Given the description of an element on the screen output the (x, y) to click on. 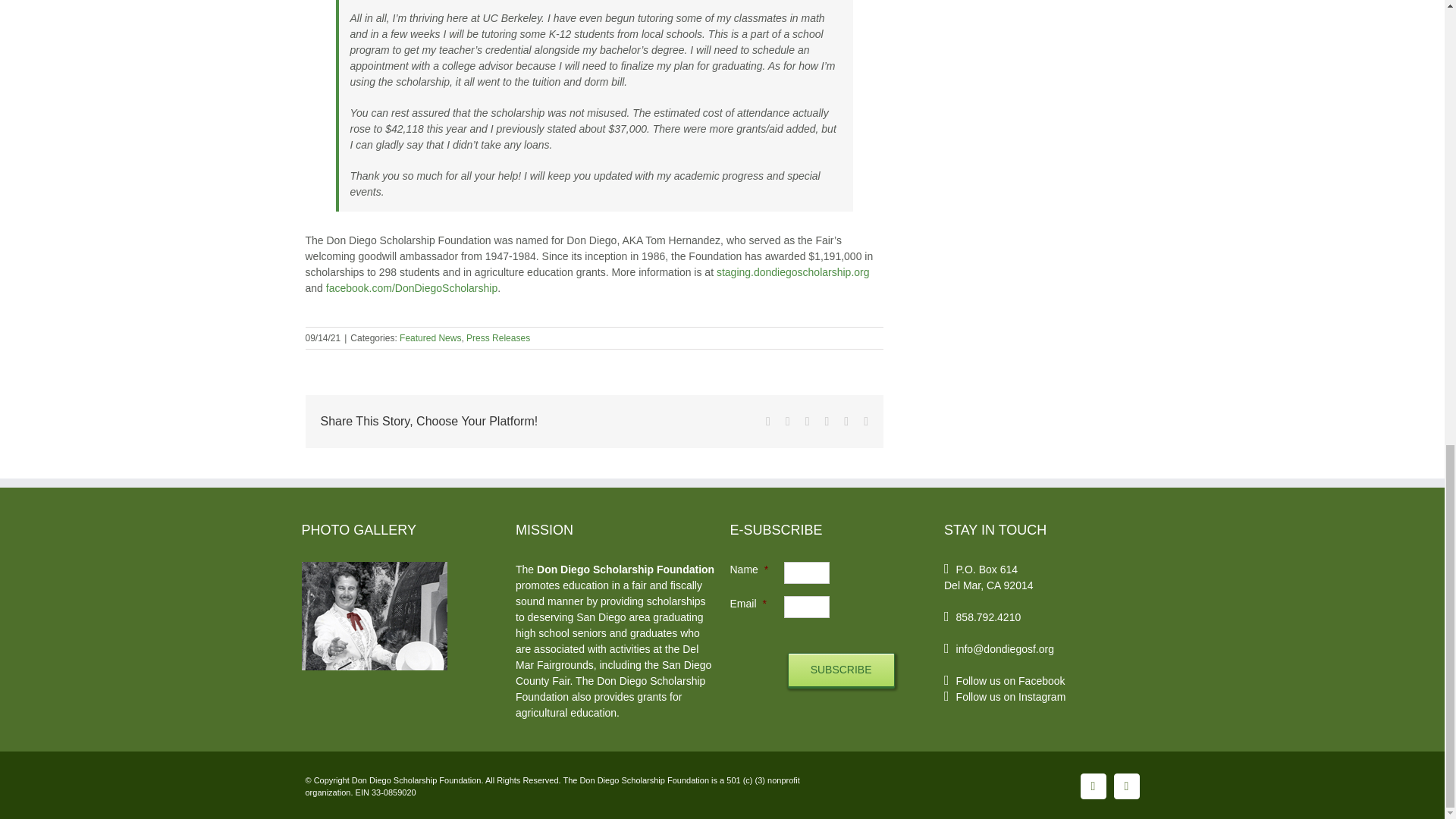
Subscribe (841, 669)
